Given the description of an element on the screen output the (x, y) to click on. 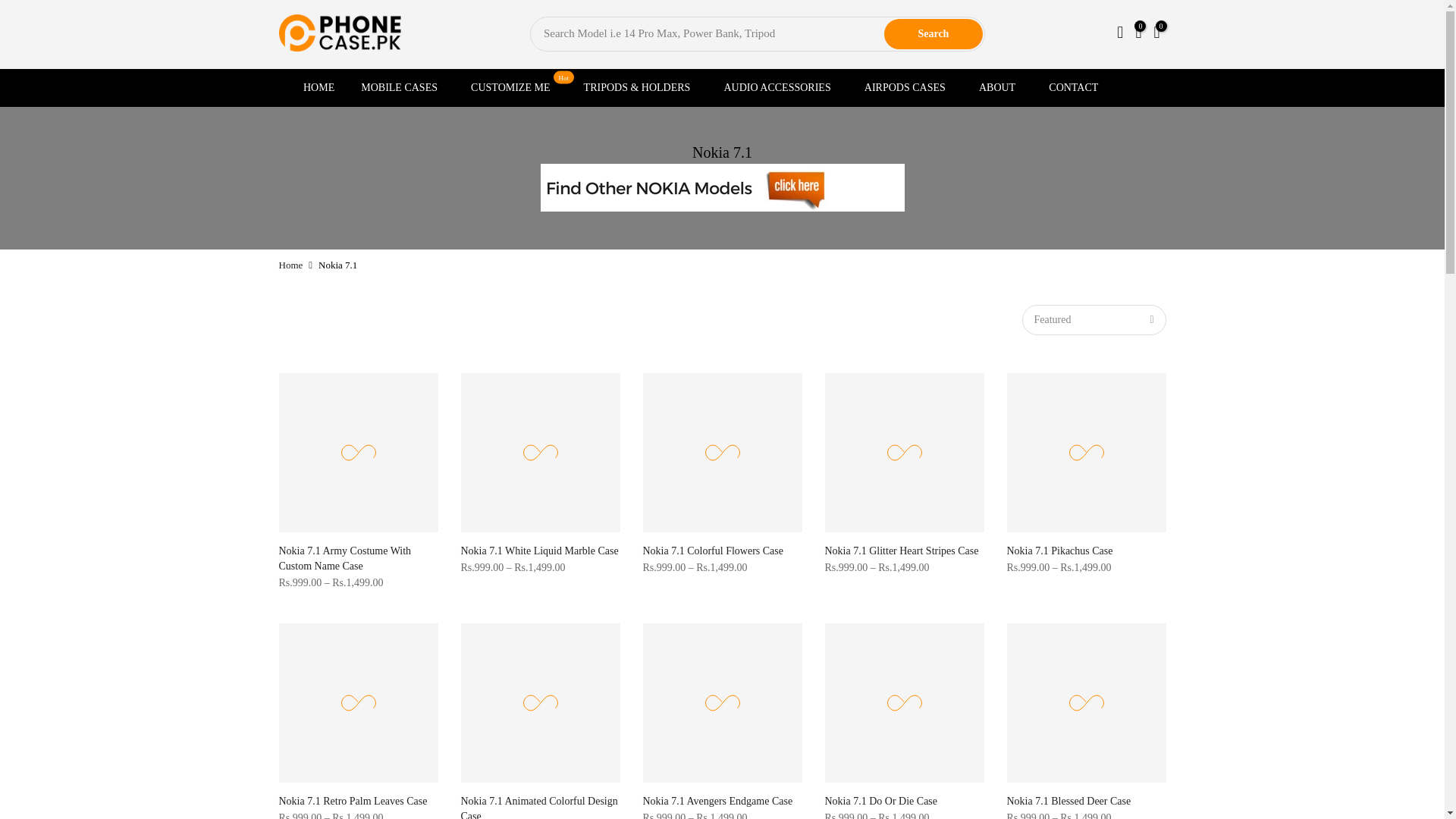
MOBILE CASES (402, 87)
0 (1138, 34)
Search (932, 33)
HOME (318, 87)
